Given the description of an element on the screen output the (x, y) to click on. 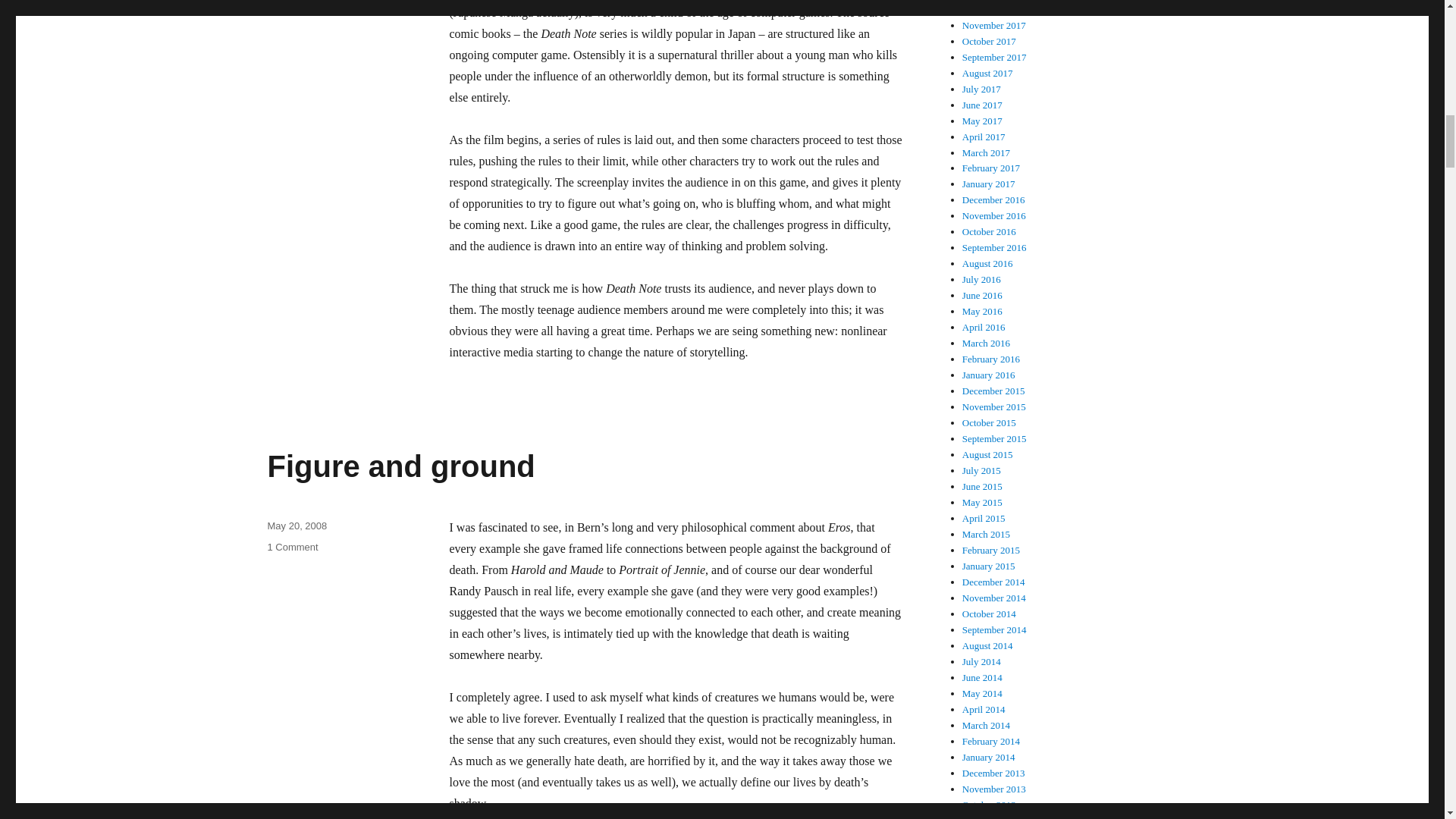
Figure and ground (400, 466)
May 20, 2008 (291, 546)
